Given the description of an element on the screen output the (x, y) to click on. 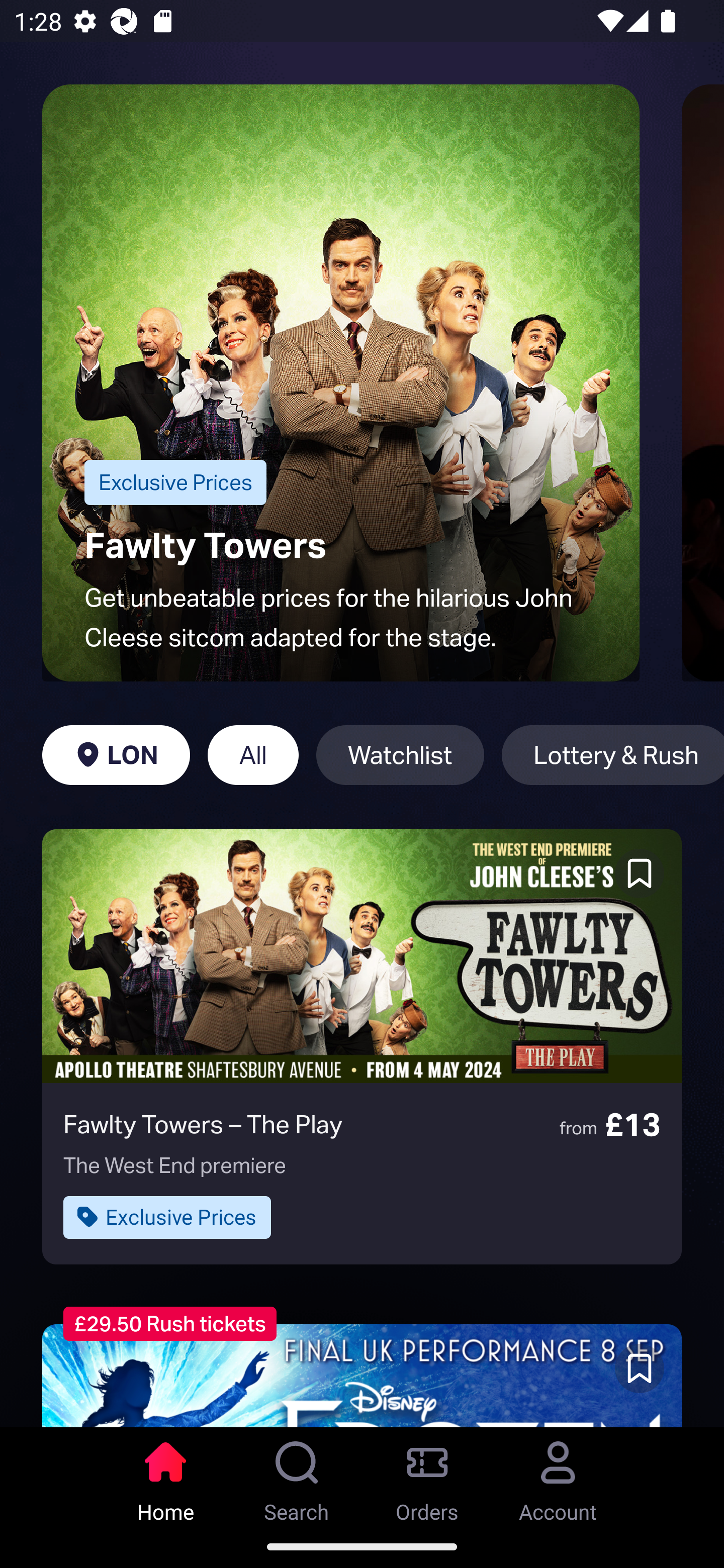
LON (115, 754)
All (252, 754)
Watchlist (400, 754)
Lottery & Rush (612, 754)
Search (296, 1475)
Orders (427, 1475)
Account (558, 1475)
